Given the description of an element on the screen output the (x, y) to click on. 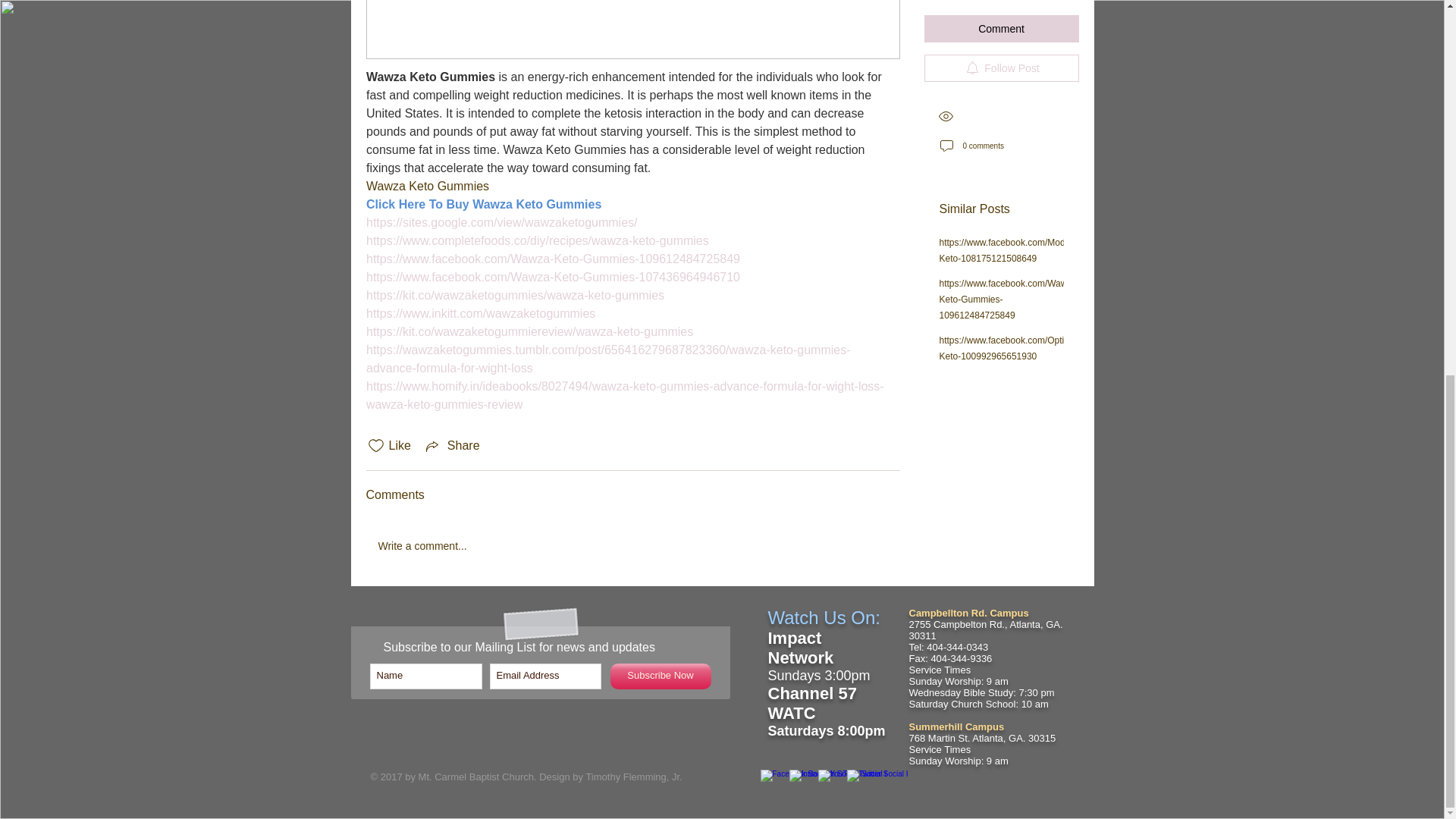
Click Here To Buy Wawza Keto Gummies (482, 204)
Wawza Keto Gummies (430, 76)
Share (451, 445)
Subscribe Now (660, 676)
Write a comment... (632, 546)
